Given the description of an element on the screen output the (x, y) to click on. 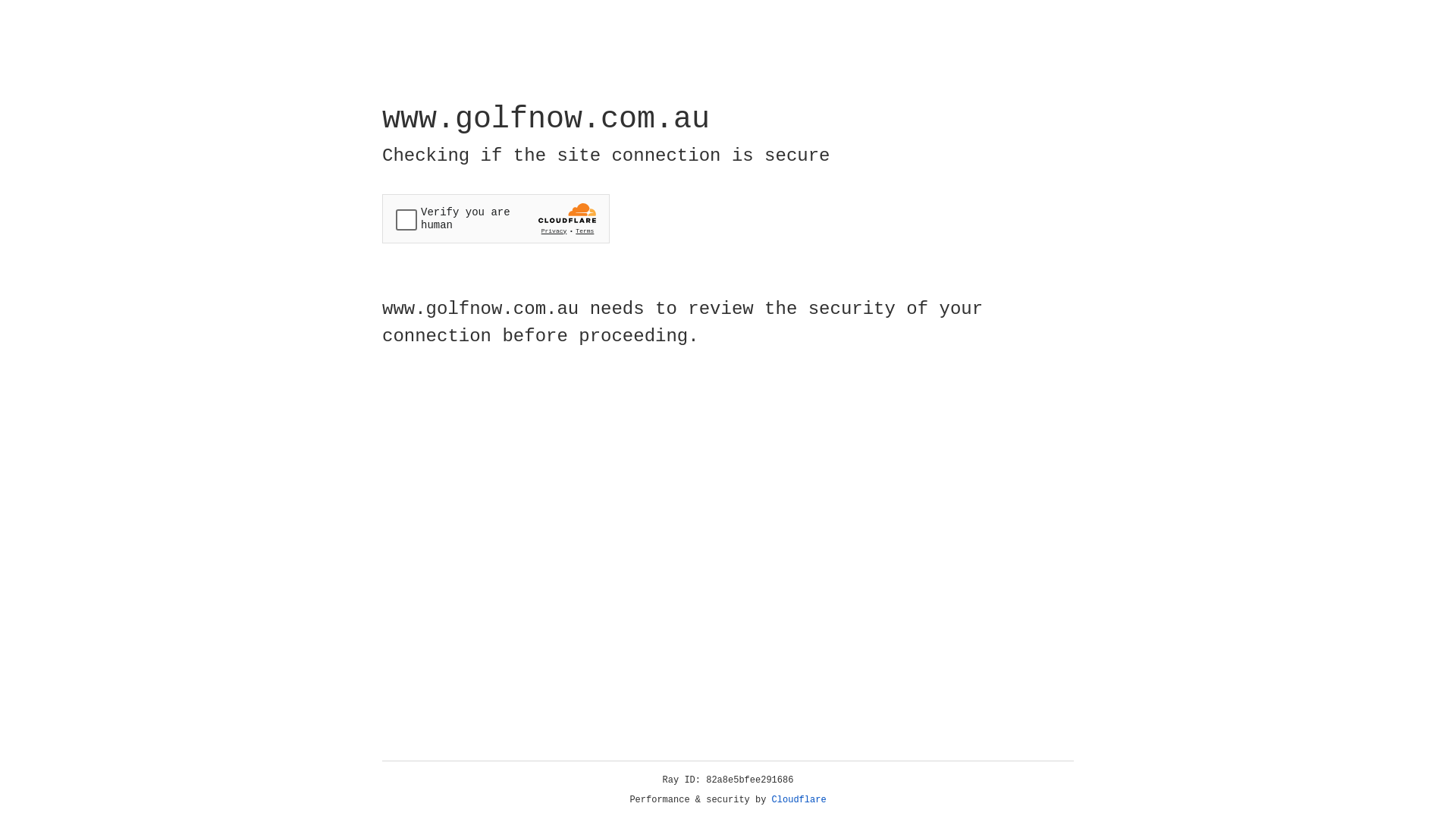
Widget containing a Cloudflare security challenge Element type: hover (495, 218)
Cloudflare Element type: text (798, 799)
